Given the description of an element on the screen output the (x, y) to click on. 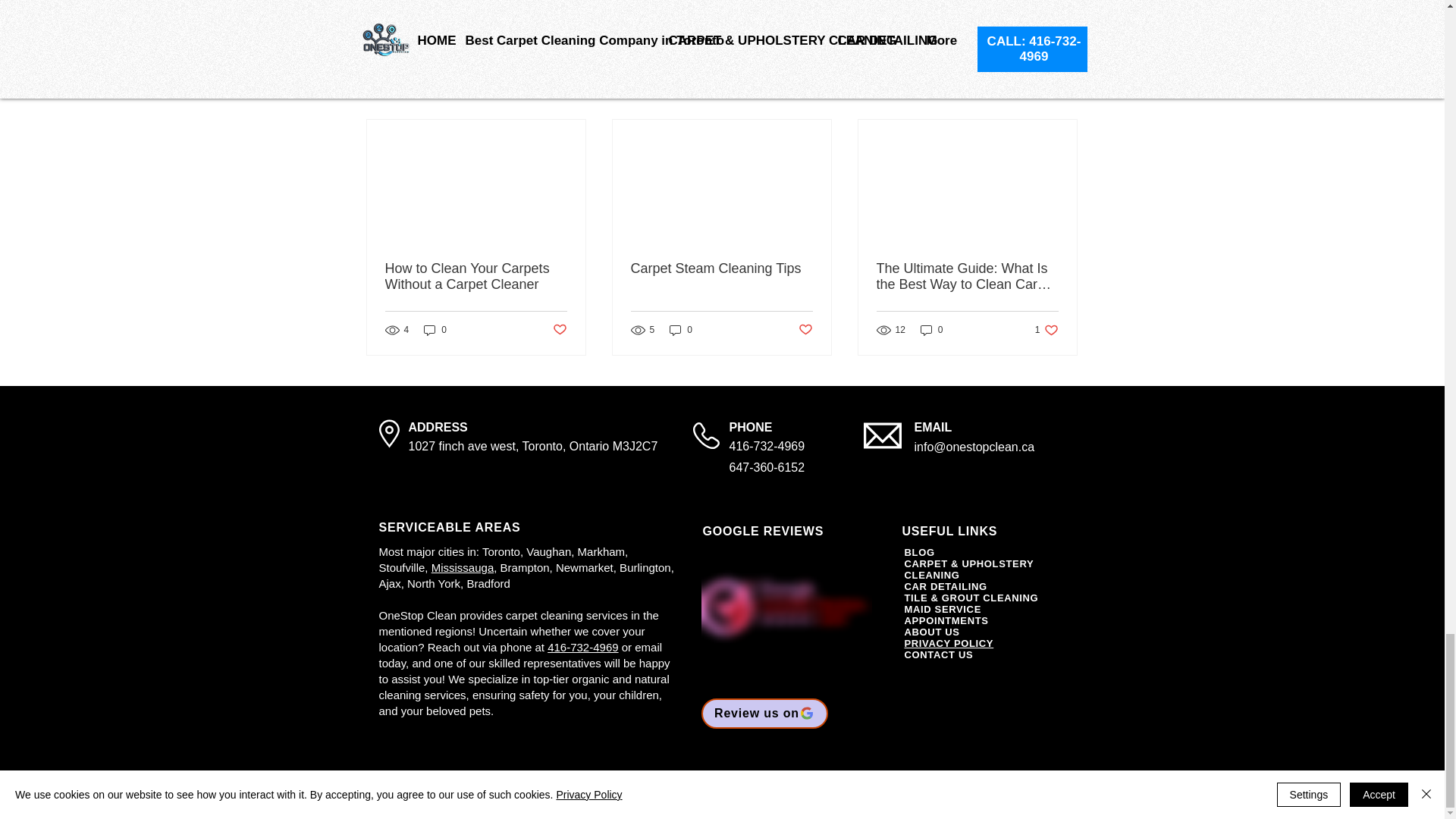
Post not marked as liked (804, 330)
Post not marked as liked (990, 10)
0 (558, 330)
416-732-4969 (931, 329)
0 (767, 445)
Carpet Steam Cleaning Tips (435, 329)
How to Clean Your Carpets Without a Carpet Cleaner (721, 268)
